Given the description of an element on the screen output the (x, y) to click on. 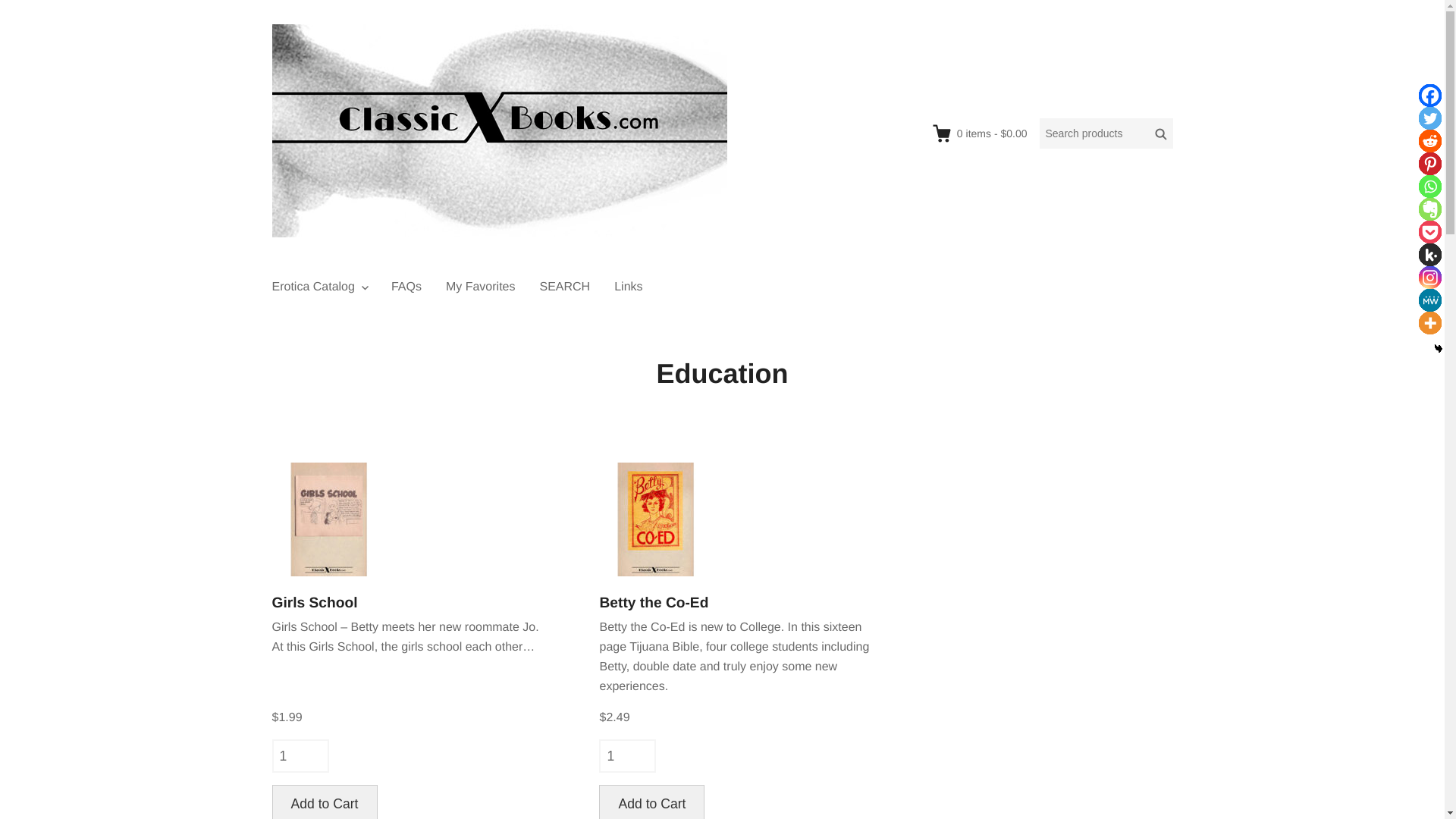
Whatsapp (1429, 186)
MeWe (1429, 300)
Twitter (1429, 118)
Pinterest (1429, 163)
Evernote (1429, 209)
Facebook (1429, 95)
1 (627, 756)
Kik (1429, 254)
More (1429, 323)
1 (299, 756)
Pocket (1429, 231)
Reddit (1429, 140)
Instagram (1429, 277)
